Given the description of an element on the screen output the (x, y) to click on. 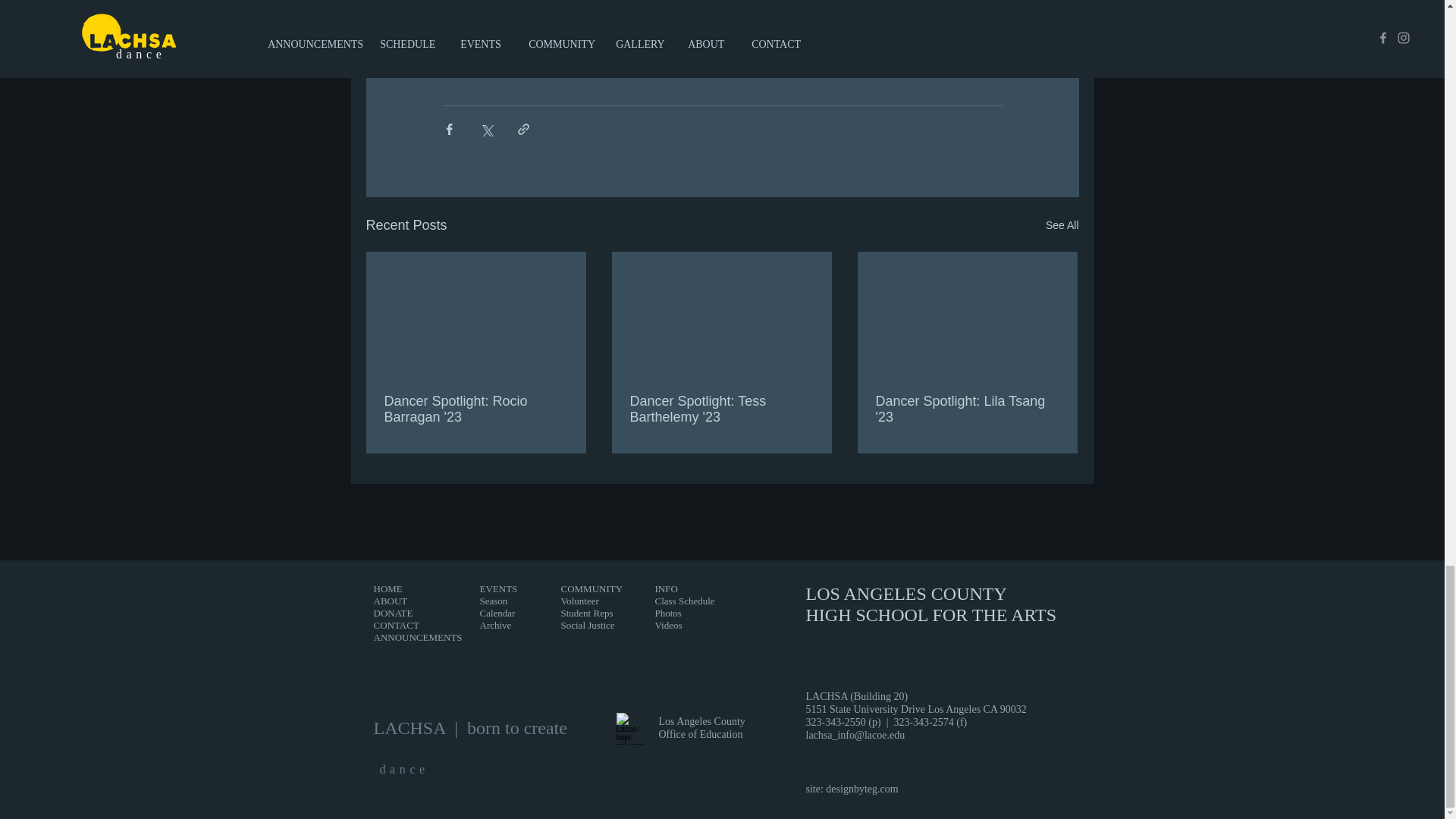
Dancer Spotlight: Rocio Barragan '23 (475, 409)
See All (1061, 225)
